Given the description of an element on the screen output the (x, y) to click on. 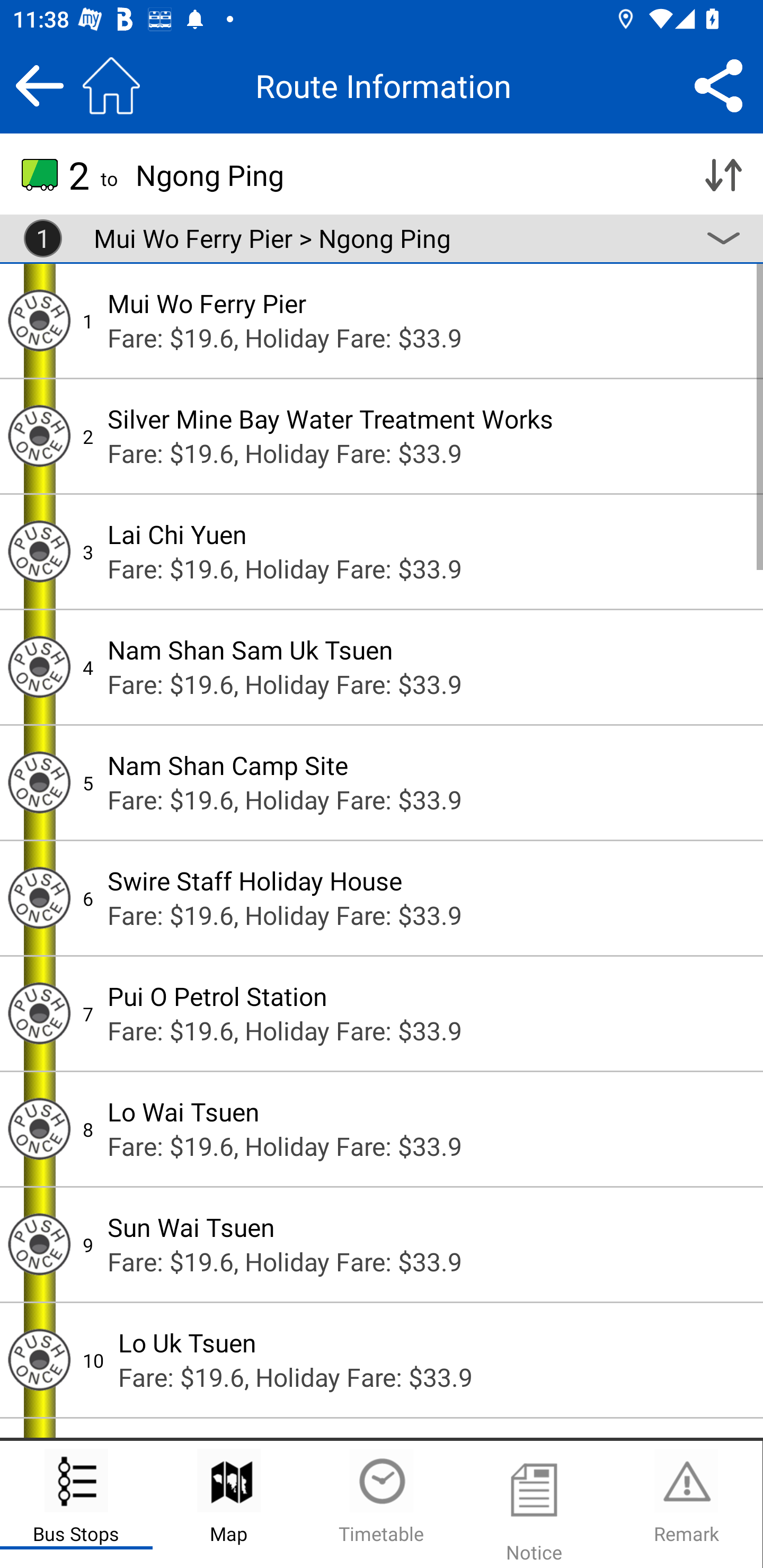
Jump to home page (111, 85)
Share point to point route search criteria) (718, 85)
Back (39, 85)
Reverse direction (723, 174)
Other routes (723, 238)
Alight Reminder (39, 320)
Alight Reminder (39, 435)
Alight Reminder (39, 551)
Alight Reminder (39, 667)
Alight Reminder (39, 782)
Alight Reminder (39, 897)
Alight Reminder (39, 1013)
Alight Reminder (39, 1128)
Alight Reminder (39, 1244)
Alight Reminder (39, 1360)
Bus Stops (76, 1504)
Map (228, 1504)
Timetable (381, 1504)
Notice (533, 1504)
Remark (686, 1504)
